Given the description of an element on the screen output the (x, y) to click on. 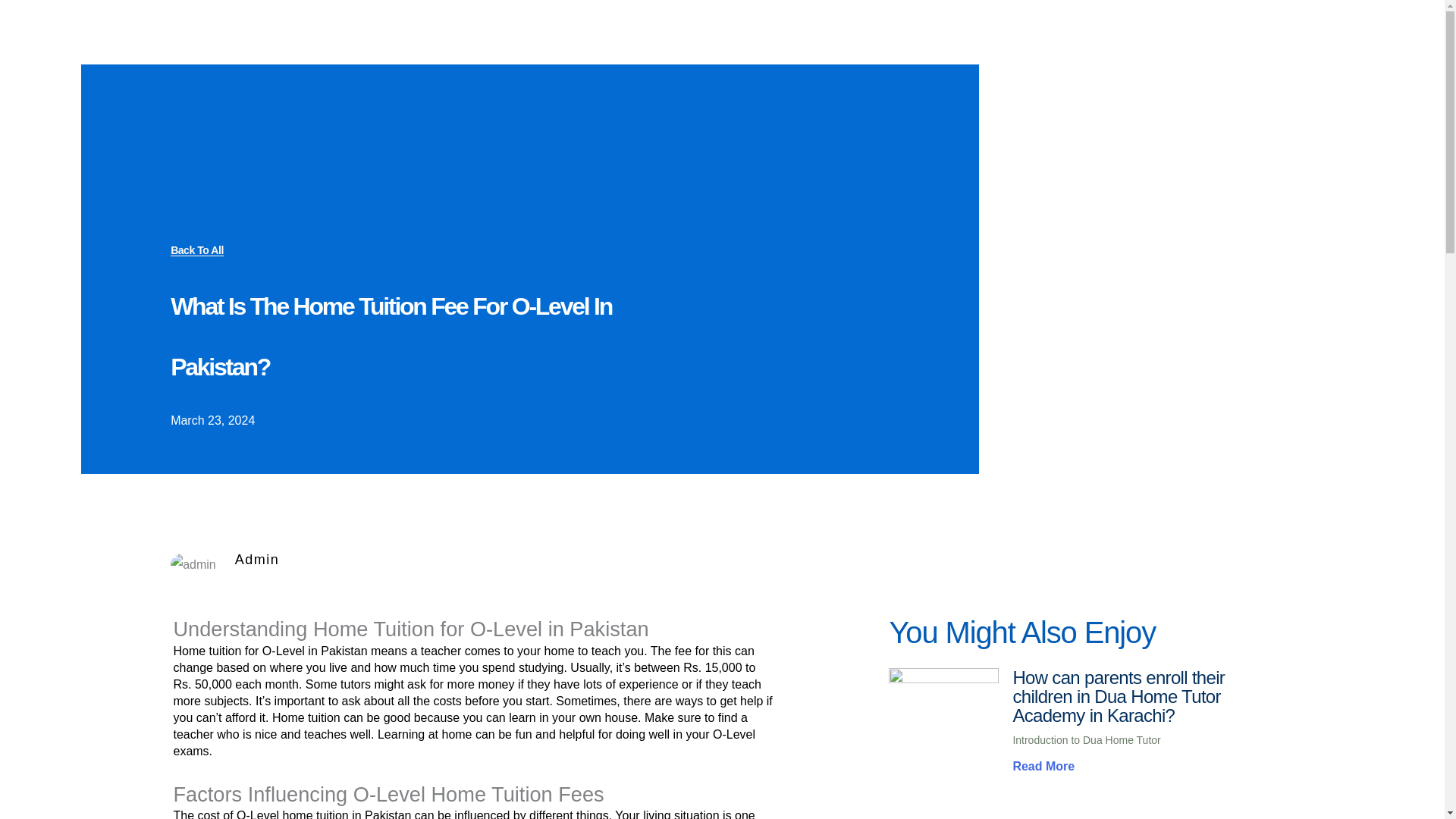
Read More (1042, 766)
Back To All (197, 250)
